Given the description of an element on the screen output the (x, y) to click on. 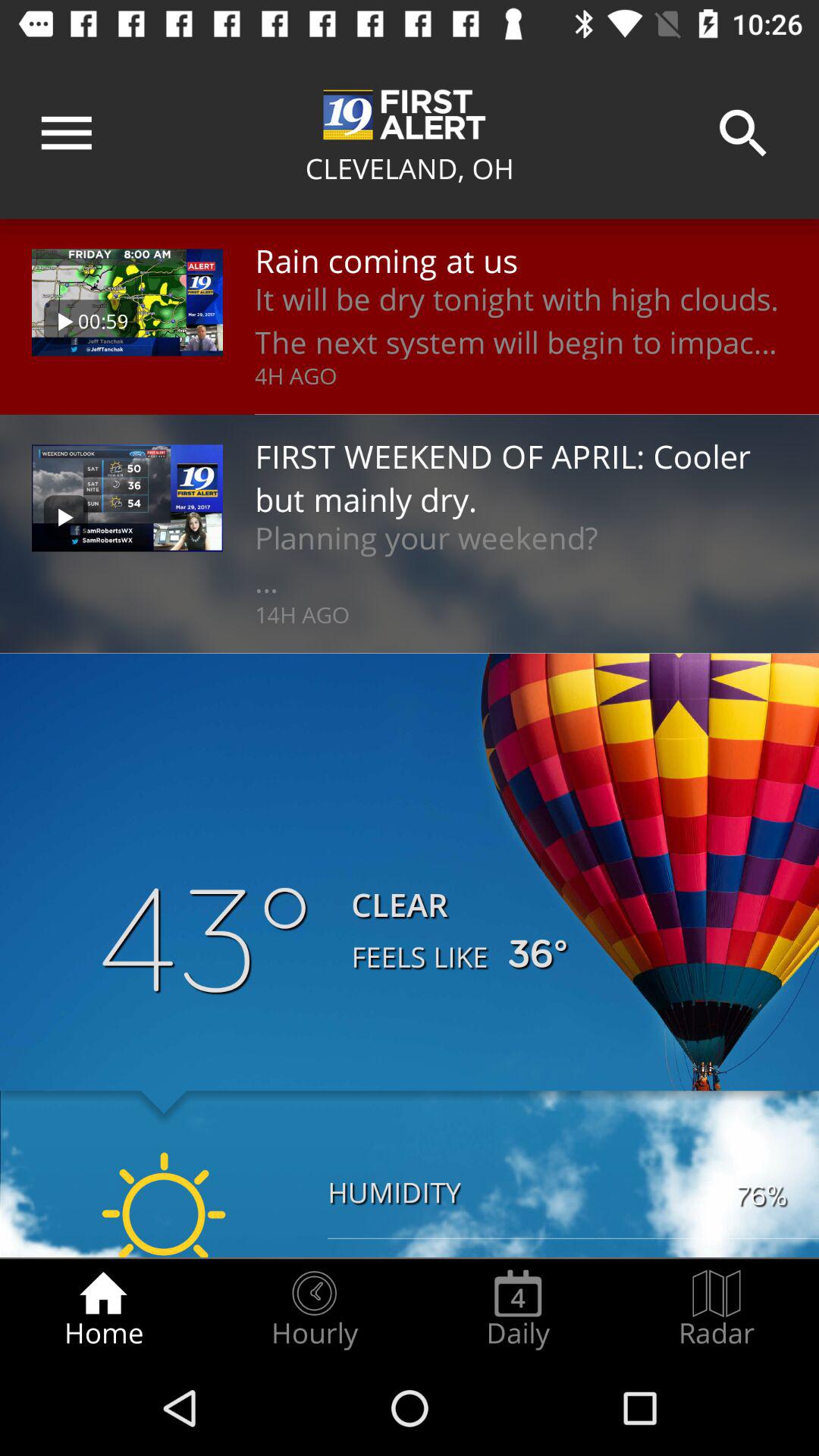
turn on daily icon (518, 1309)
